Given the description of an element on the screen output the (x, y) to click on. 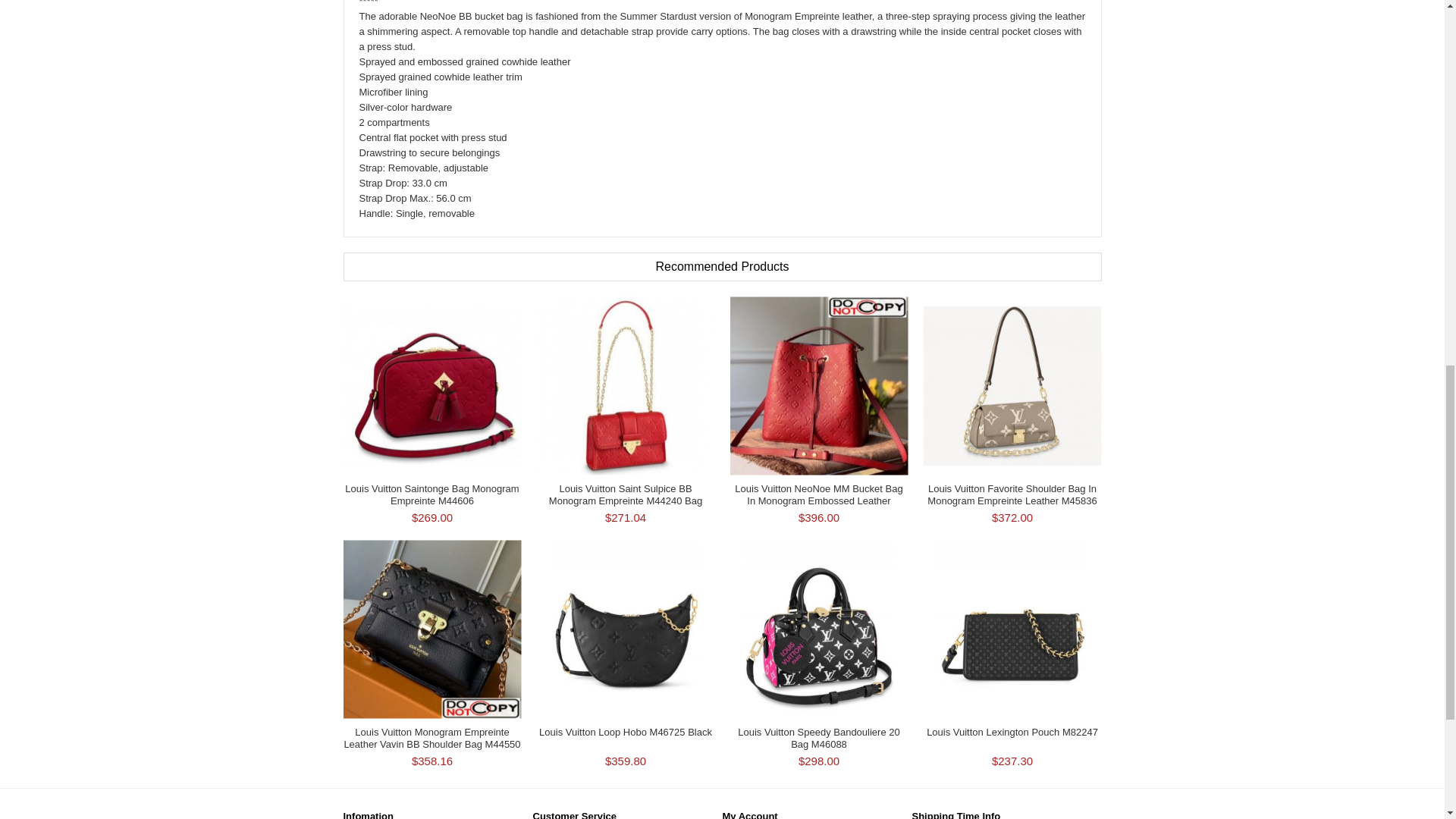
Louis Vuitton Saintonge Bag Monogram Empreinte M44606 (431, 494)
 Louis Vuitton Saintonge Bag Monogram Empreinte M44606  (431, 385)
